Given the description of an element on the screen output the (x, y) to click on. 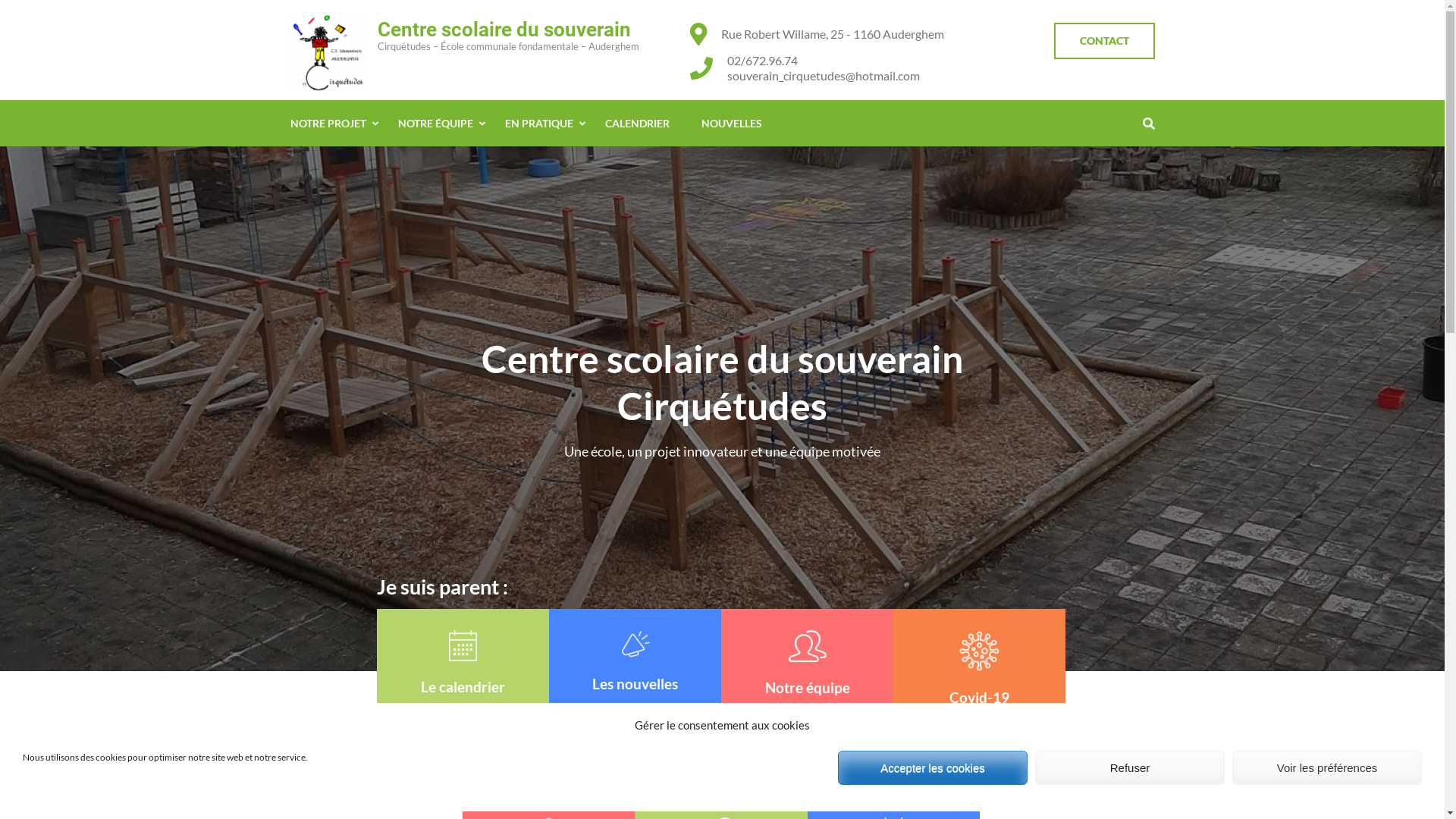
Le calendrier Element type: text (462, 663)
Centre scolaire du souverain Element type: text (503, 29)
Covid-19 Element type: text (979, 668)
souverain_cirquetudes@hotmail.com Element type: text (822, 75)
Refuser Element type: text (1129, 767)
CALENDRIER Element type: text (637, 123)
CONTACT Element type: text (1104, 40)
Accepter les cookies Element type: text (932, 767)
NOUVELLES Element type: text (730, 123)
NOTRE PROJET Element type: text (327, 123)
EN PRATIQUE Element type: text (539, 123)
02/672.96.74 Element type: text (822, 60)
Les nouvelles Element type: text (634, 661)
